Given the description of an element on the screen output the (x, y) to click on. 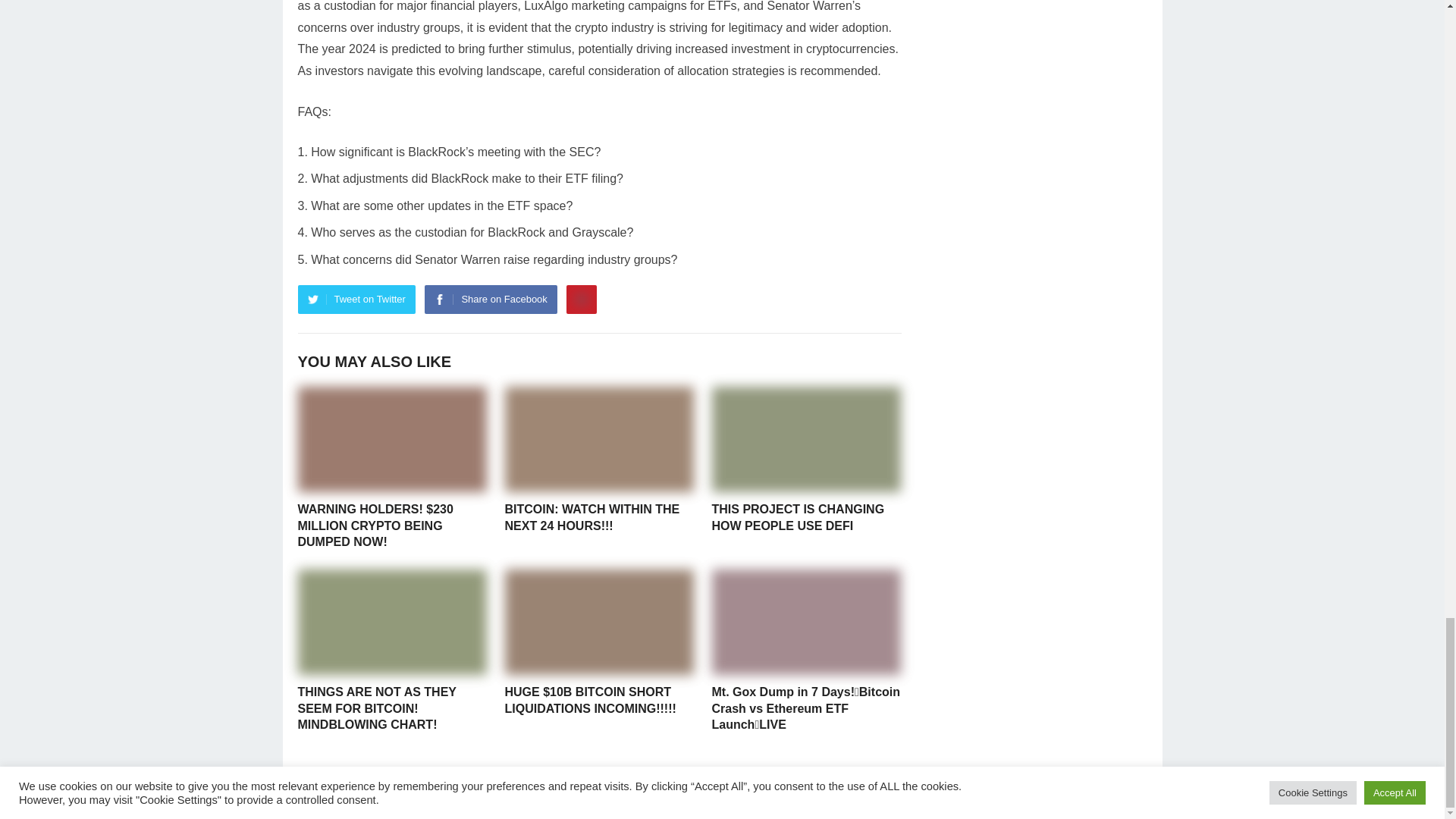
THIS PROJECT IS CHANGING HOW PEOPLE USE DEFI (797, 517)
Tweet on Twitter (355, 299)
Pinterest (581, 299)
Share on Facebook (490, 299)
THINGS ARE NOT AS THEY SEEM FOR BITCOIN! MINDBLOWING CHART! (376, 708)
BITCOIN: WATCH WITHIN THE NEXT 24 HOURS!!! (592, 517)
